Given the description of an element on the screen output the (x, y) to click on. 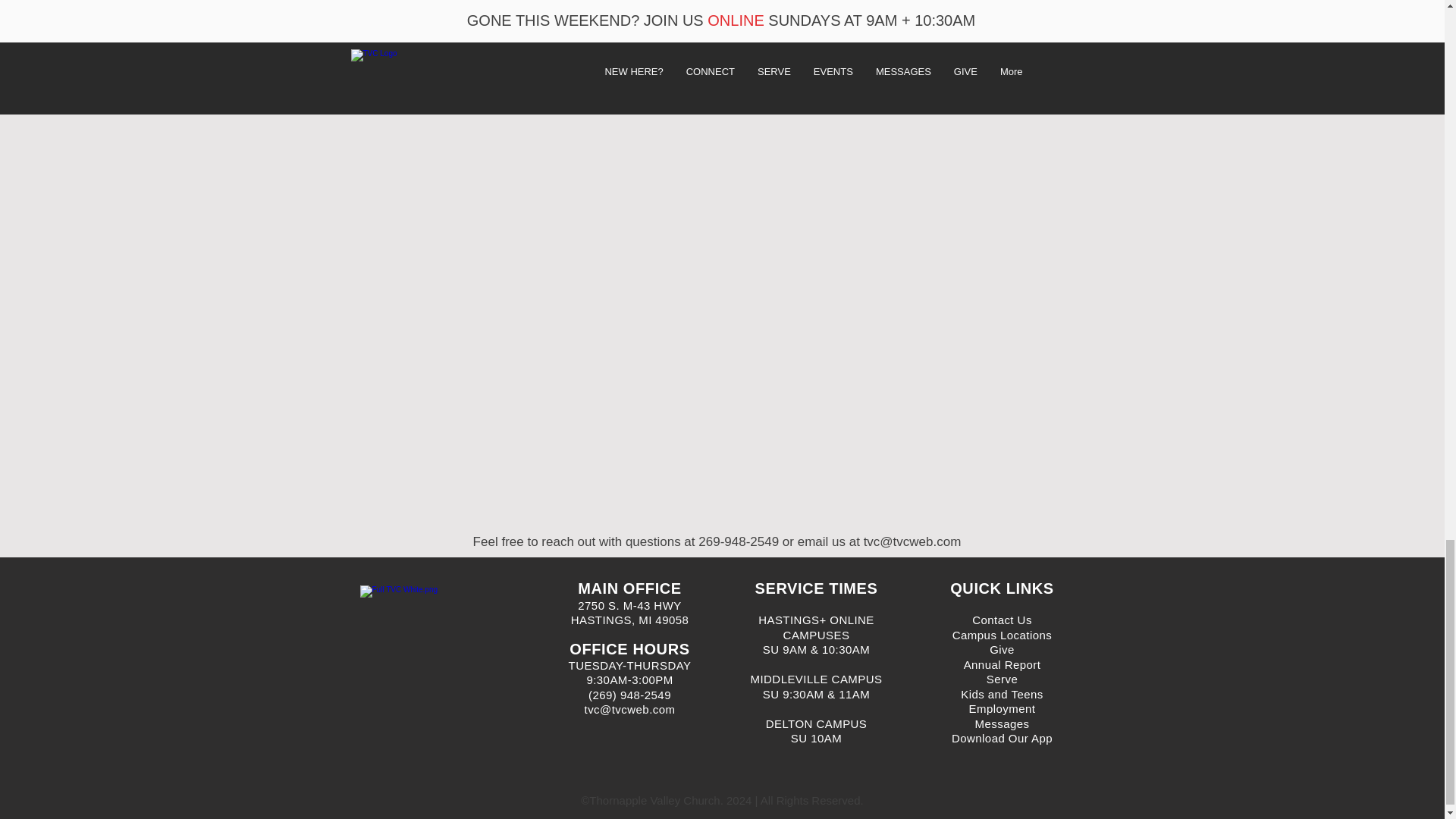
Contact Us (1002, 619)
SU (772, 694)
MIDDLEVILLE CAMPUS (816, 678)
DELTON CAMPUS (816, 723)
